Given the description of an element on the screen output the (x, y) to click on. 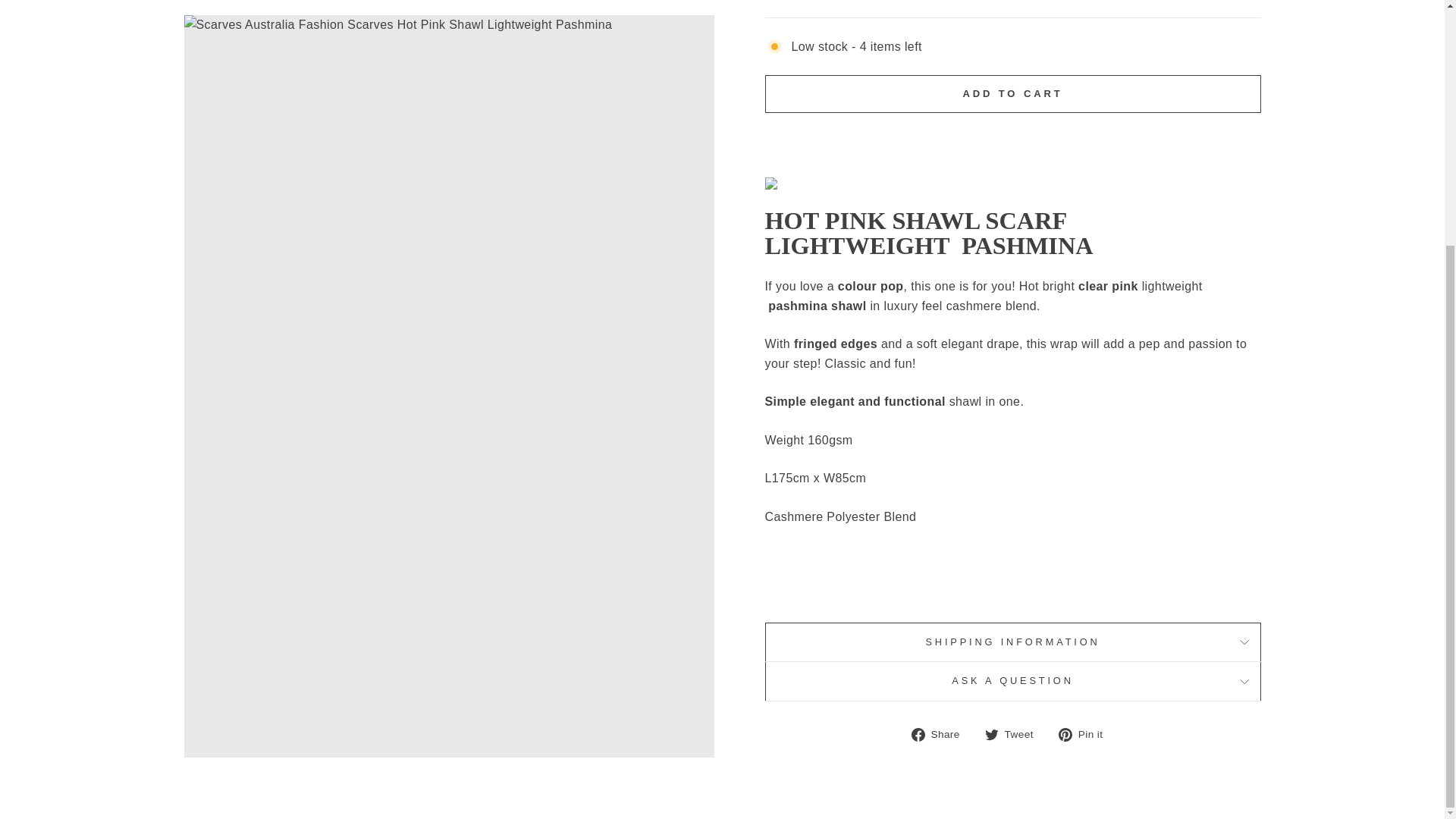
Pin on Pinterest (1085, 733)
twitter (991, 735)
Share on Facebook (941, 733)
Tweet on Twitter (1015, 733)
